Given the description of an element on the screen output the (x, y) to click on. 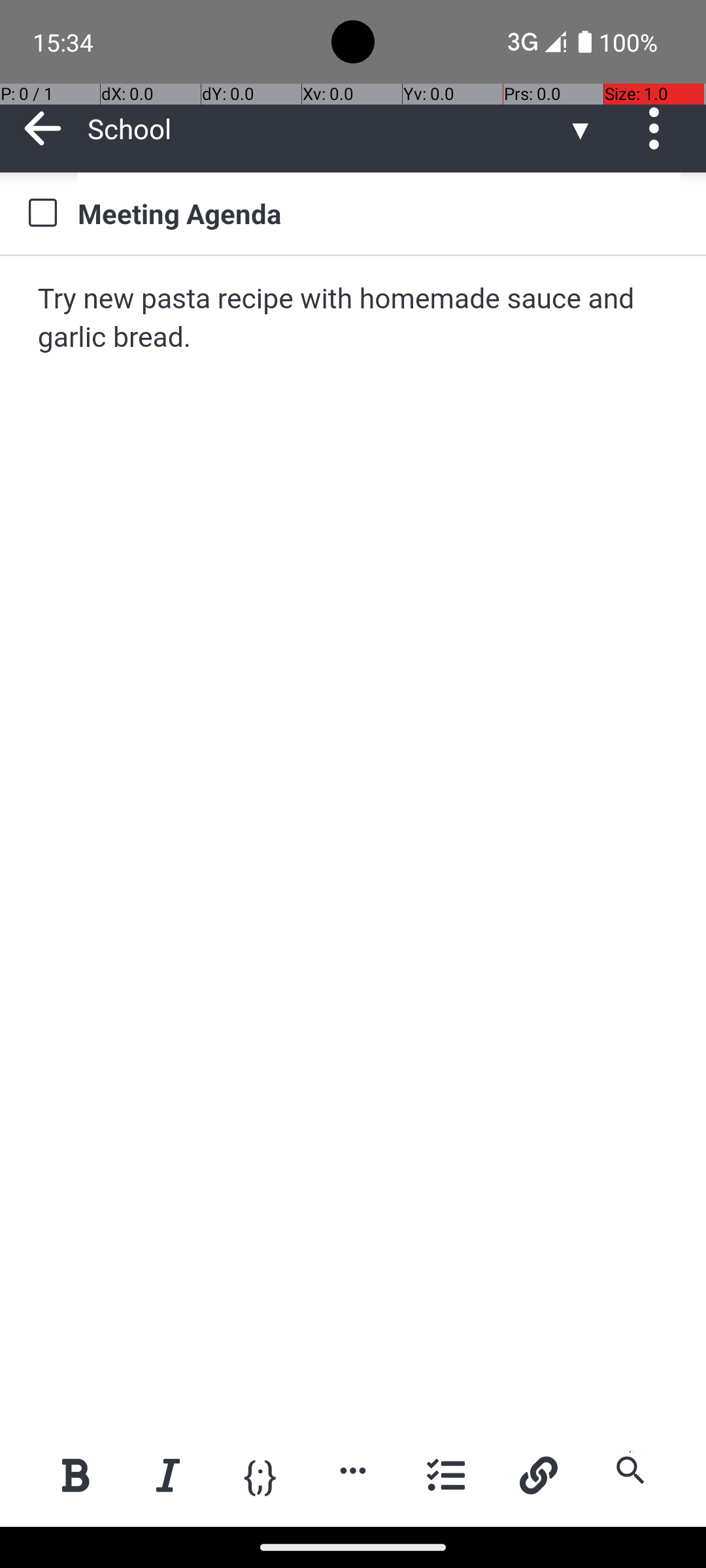
Meeting Agenda Element type: android.widget.EditText (378, 213)
School Element type: android.widget.TextView (326, 128)
Try new pasta recipe with homemade sauce and garlic bread. Element type: android.widget.EditText (354, 318)
